Given the description of an element on the screen output the (x, y) to click on. 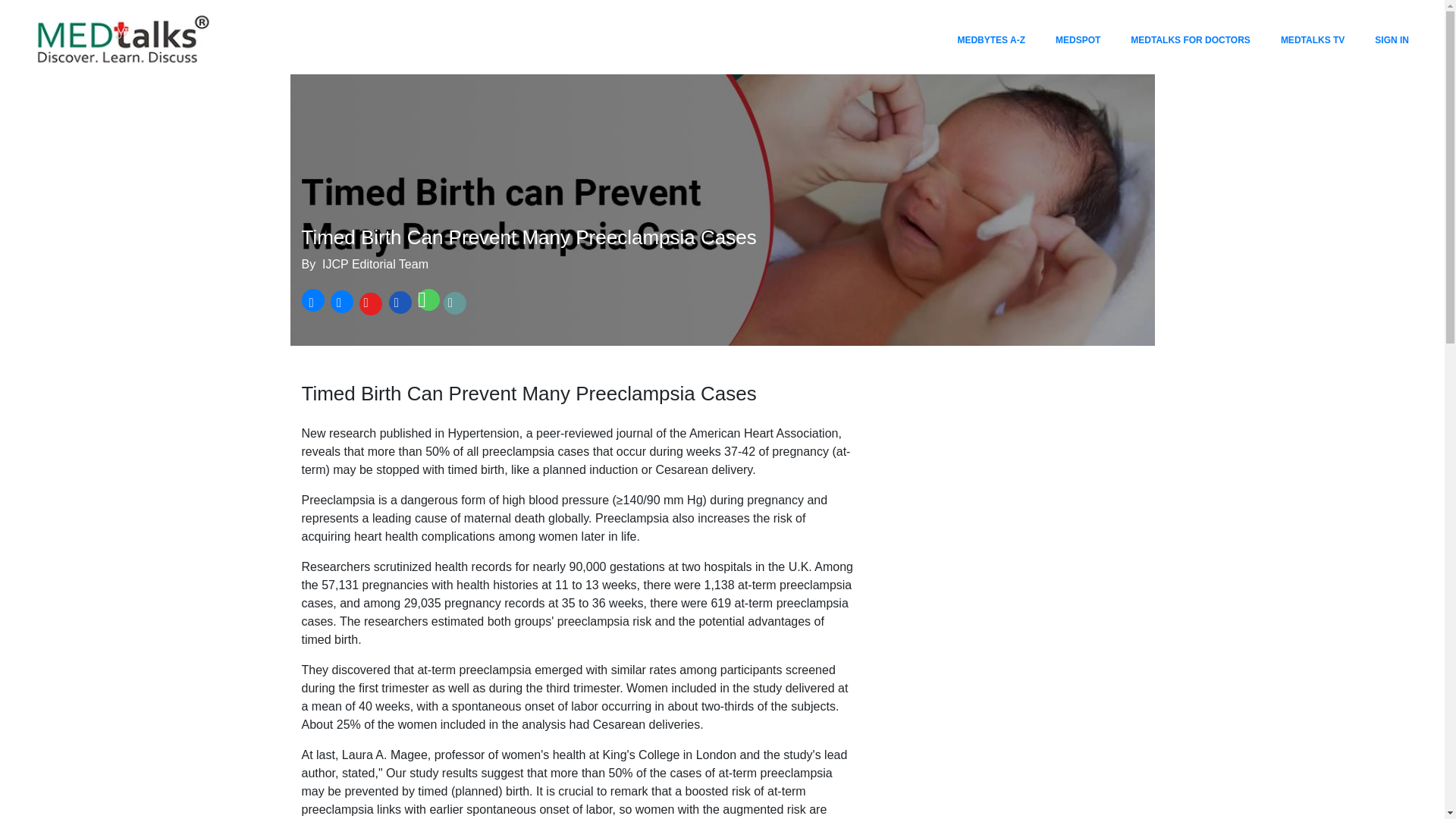
MEDTALKS TV (1313, 40)
share on twitter (340, 302)
share on whatsapp (426, 302)
MEDBYTES A-Z (990, 40)
share on Google-plus (368, 302)
MEDTALKS FOR DOCTORS (1190, 40)
share on Linkdin (398, 302)
share on Reddit (454, 302)
SIGN IN (1391, 40)
MEDSPOT (1077, 40)
